Given the description of an element on the screen output the (x, y) to click on. 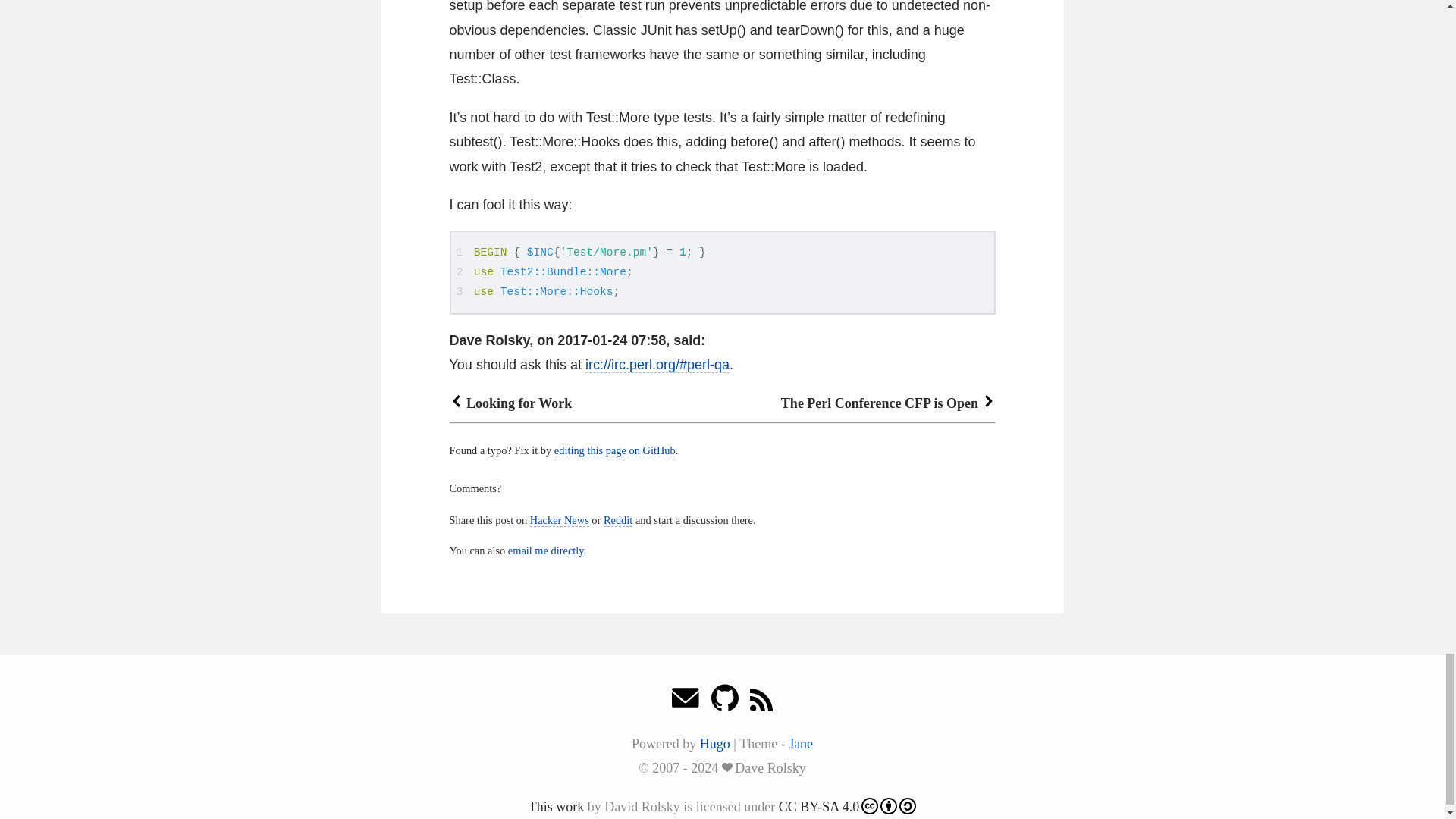
Hugo (715, 743)
This work (556, 806)
Jane (800, 743)
Looking for Work (510, 403)
The Perl Conference CFP is Open (887, 403)
Reddit (617, 520)
Hacker News (559, 520)
email me directly (545, 550)
editing this page on GitHub (614, 450)
